Given the description of an element on the screen output the (x, y) to click on. 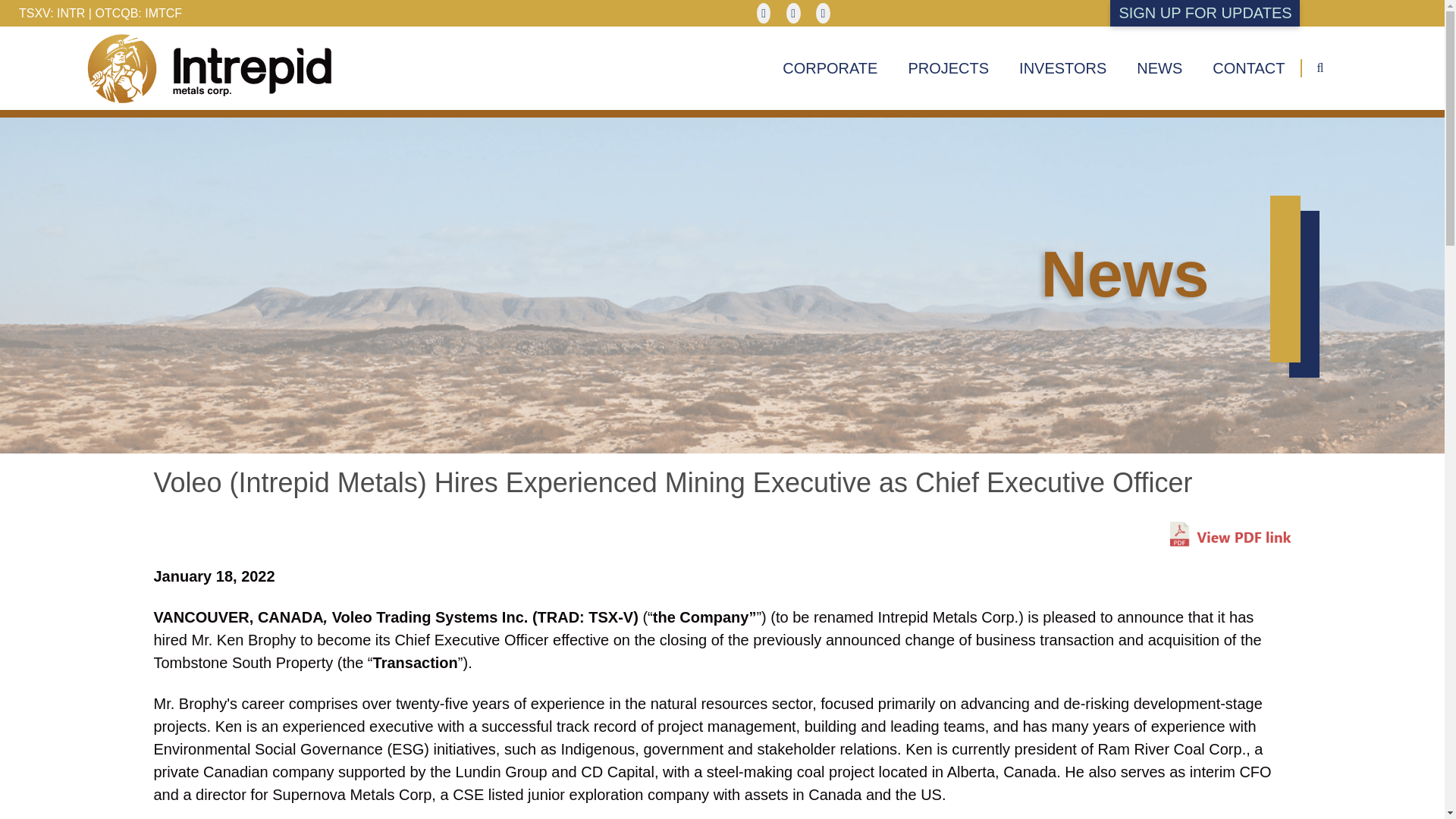
SIGN UP FOR UPDATES (1204, 13)
Gantry 5 (206, 67)
CORPORATE (829, 67)
